Given the description of an element on the screen output the (x, y) to click on. 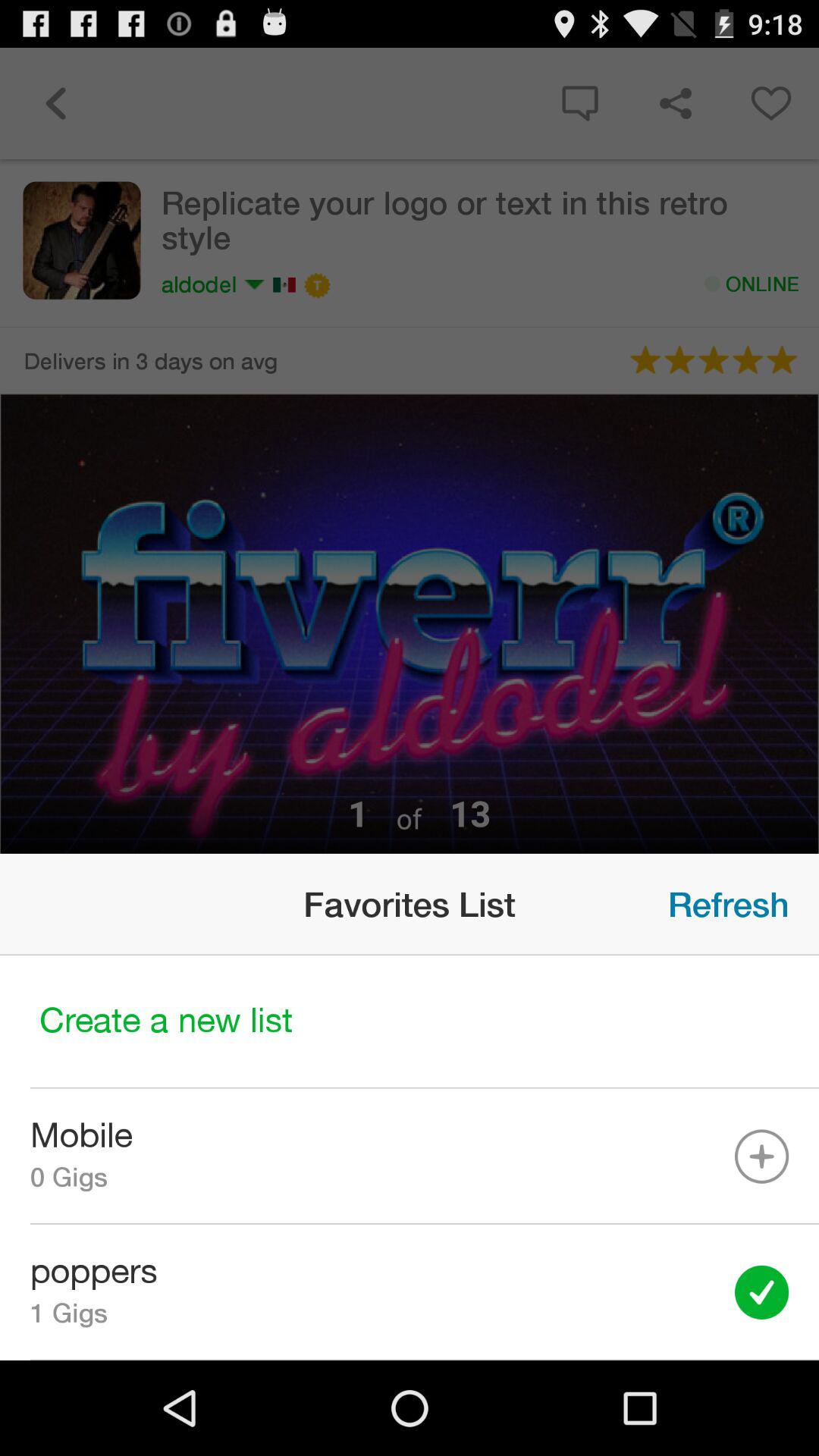
create a new list (409, 1021)
